Given the description of an element on the screen output the (x, y) to click on. 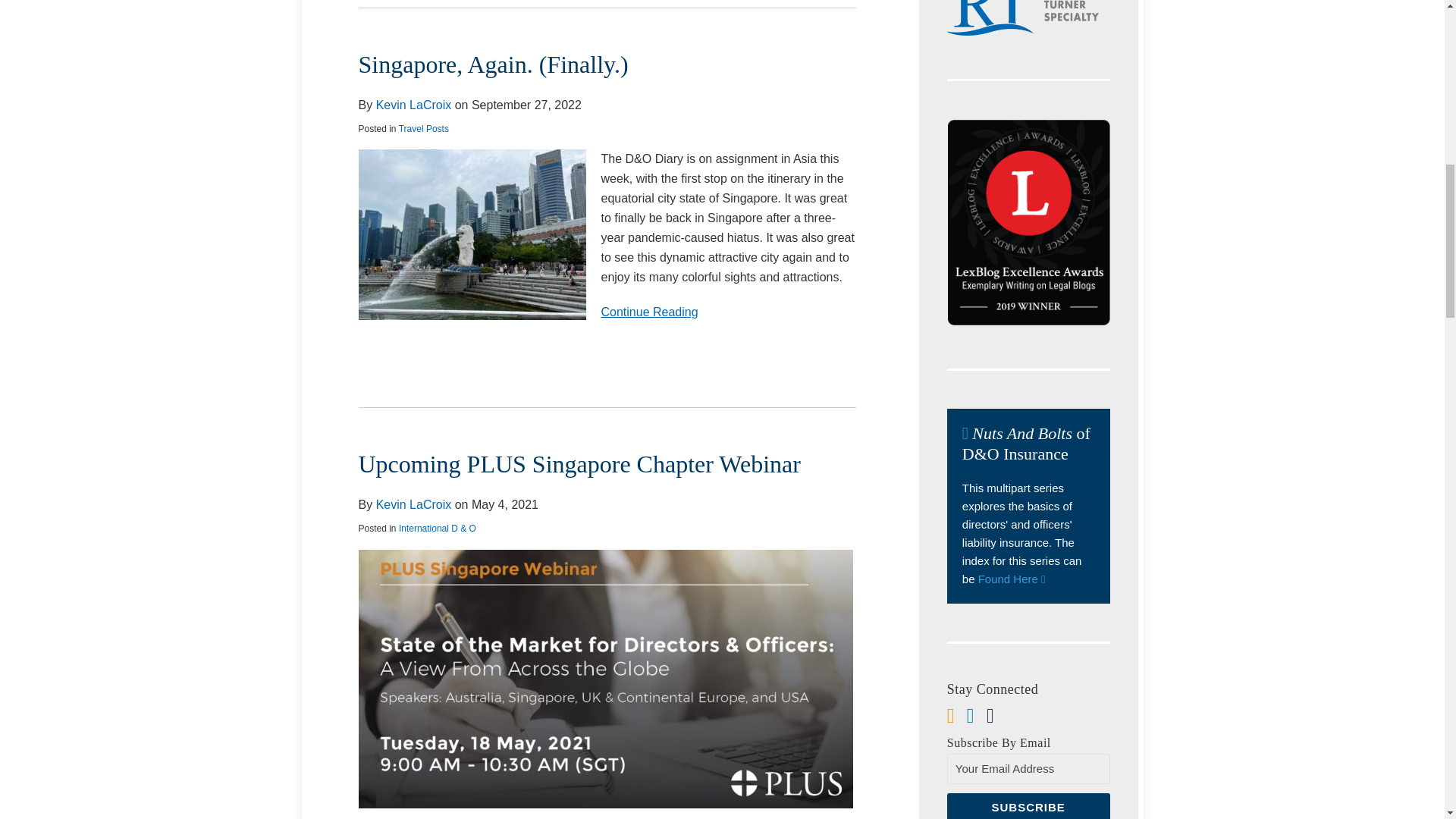
Subscribe (1028, 806)
Kevin LaCroix (413, 104)
Travel Posts (423, 128)
Kevin LaCroix (413, 504)
Upcoming PLUS Singapore Chapter Webinar (578, 463)
